Given the description of an element on the screen output the (x, y) to click on. 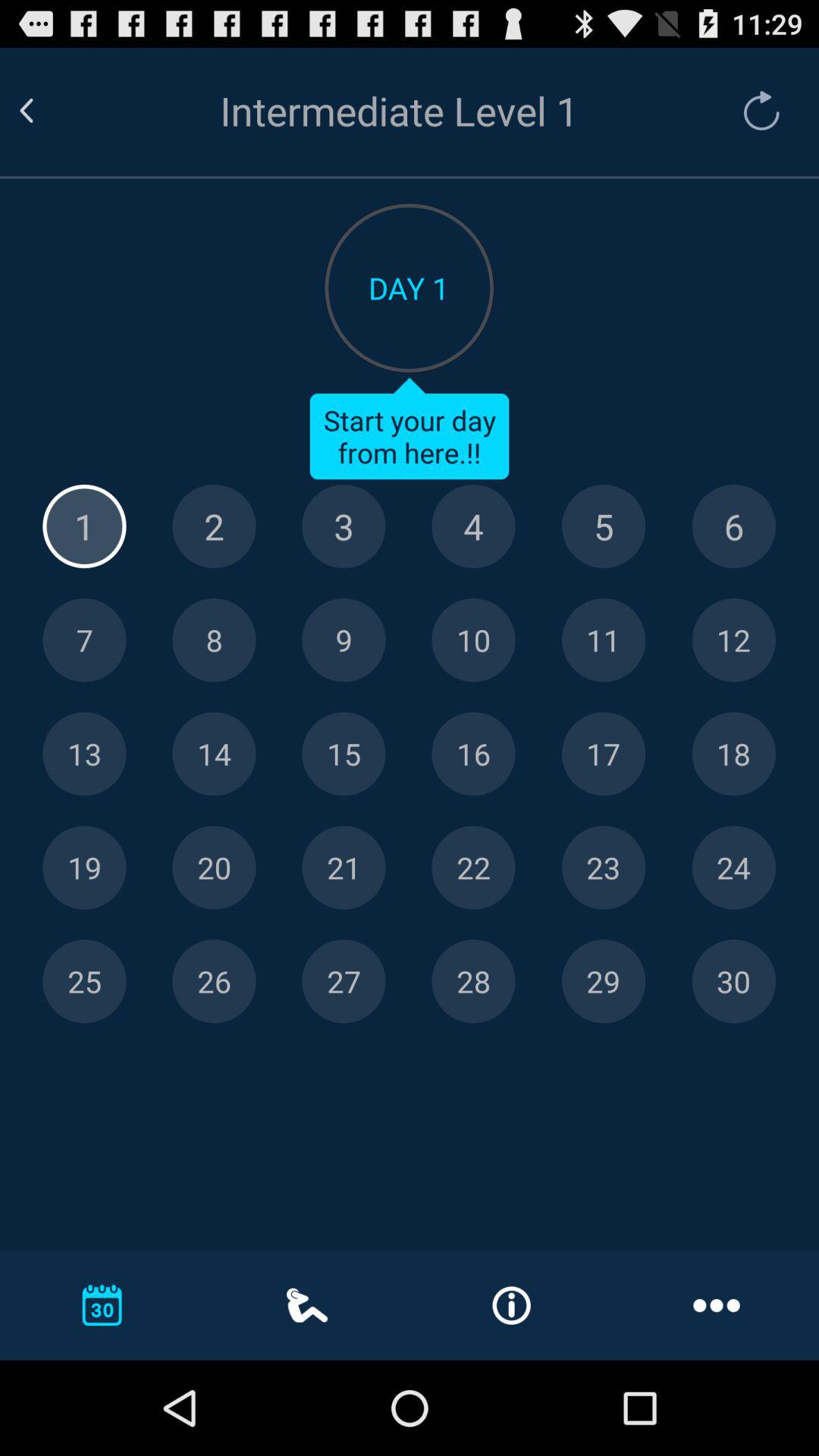
day 7 (84, 639)
